Given the description of an element on the screen output the (x, y) to click on. 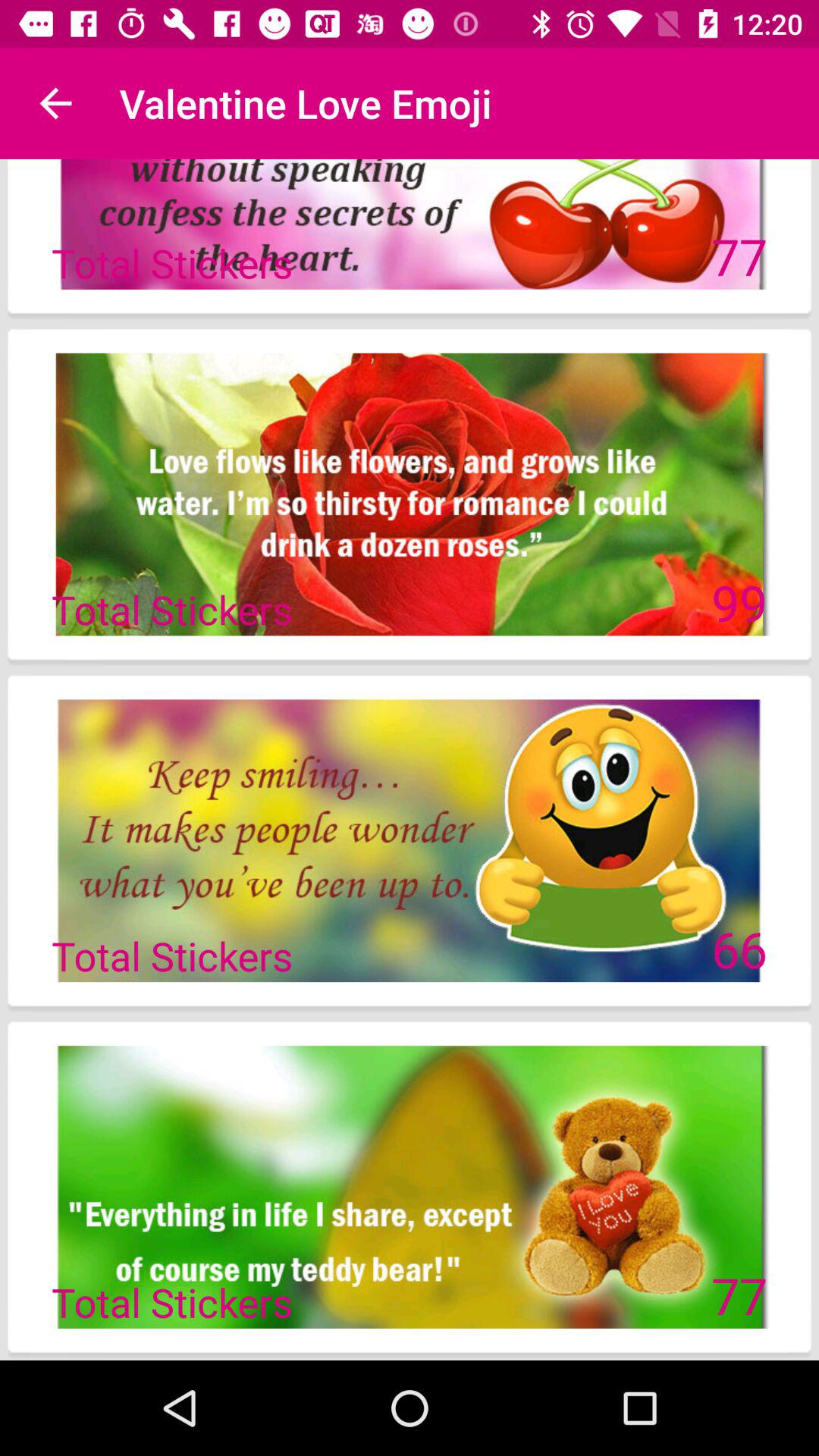
turn on the icon next to the total stickers icon (739, 948)
